Given the description of an element on the screen output the (x, y) to click on. 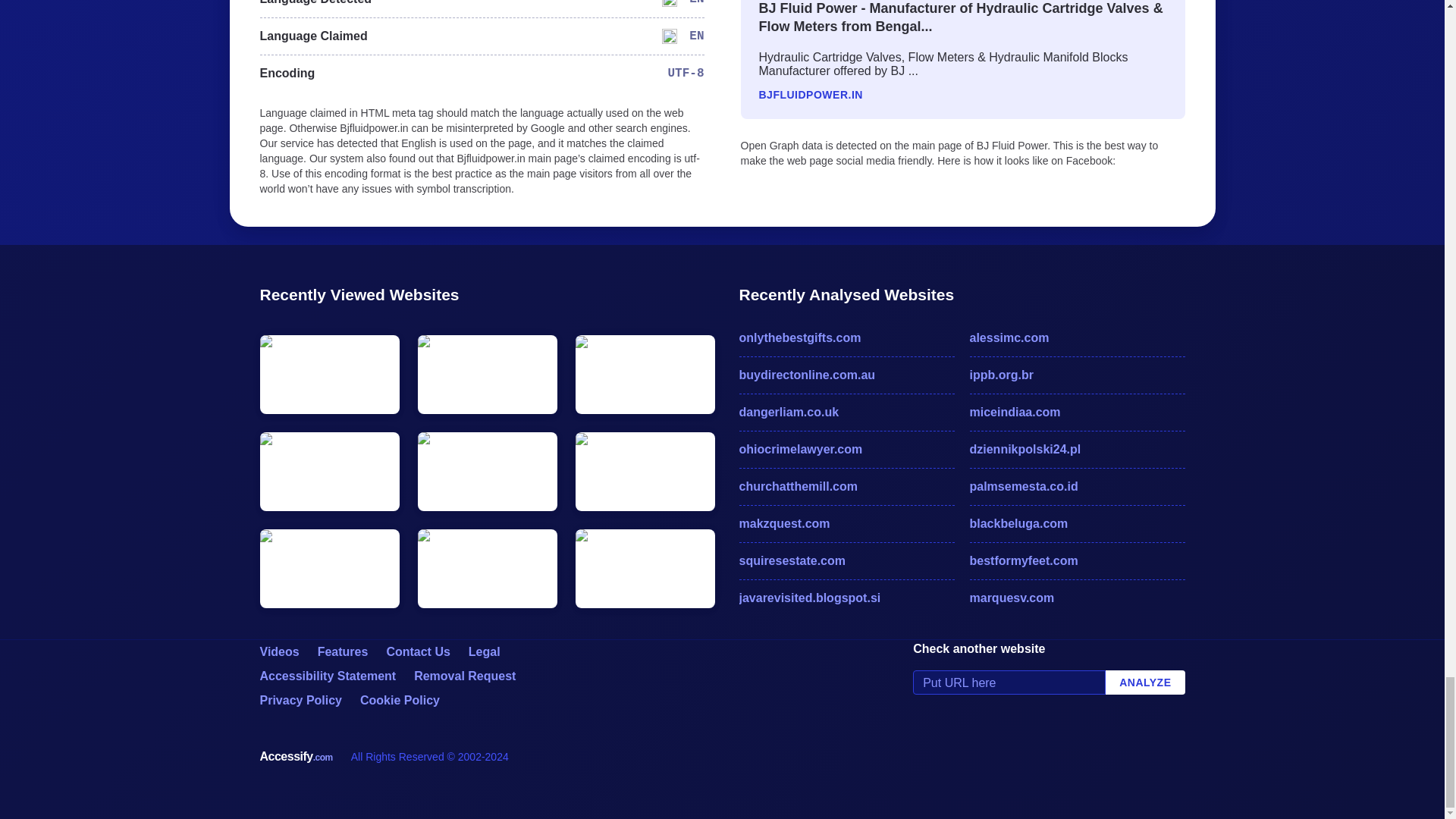
palmsemesta.co.id (1077, 486)
marquesv.com (1077, 597)
dangerliam.co.uk (845, 412)
Contact Us (417, 651)
onlythebestgifts.com (845, 338)
ohiocrimelawyer.com (845, 449)
dziennikpolski24.pl (1077, 449)
squiresestate.com (845, 561)
Legal (484, 651)
